Given the description of an element on the screen output the (x, y) to click on. 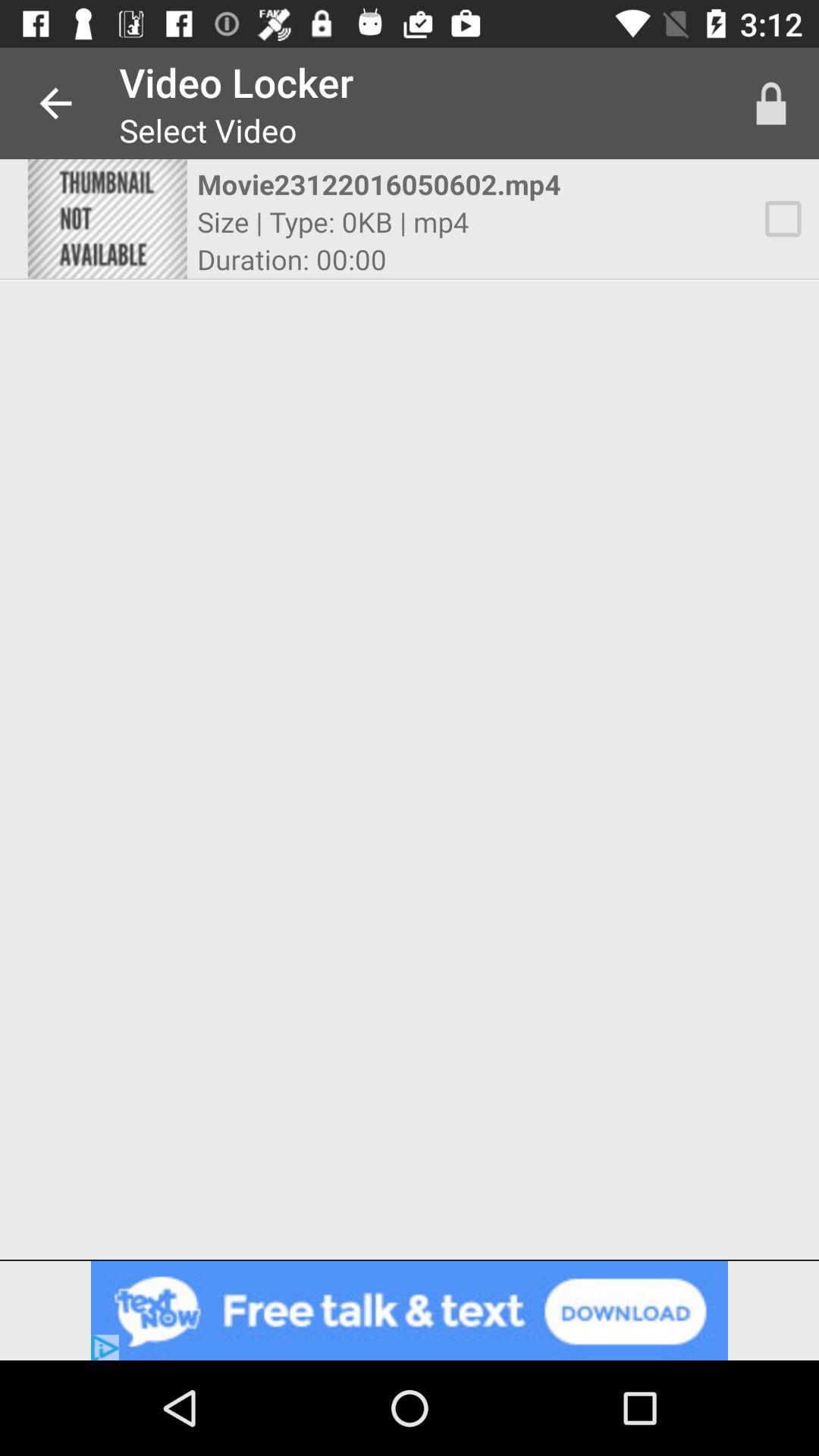
contains advertisement (409, 1310)
